Given the description of an element on the screen output the (x, y) to click on. 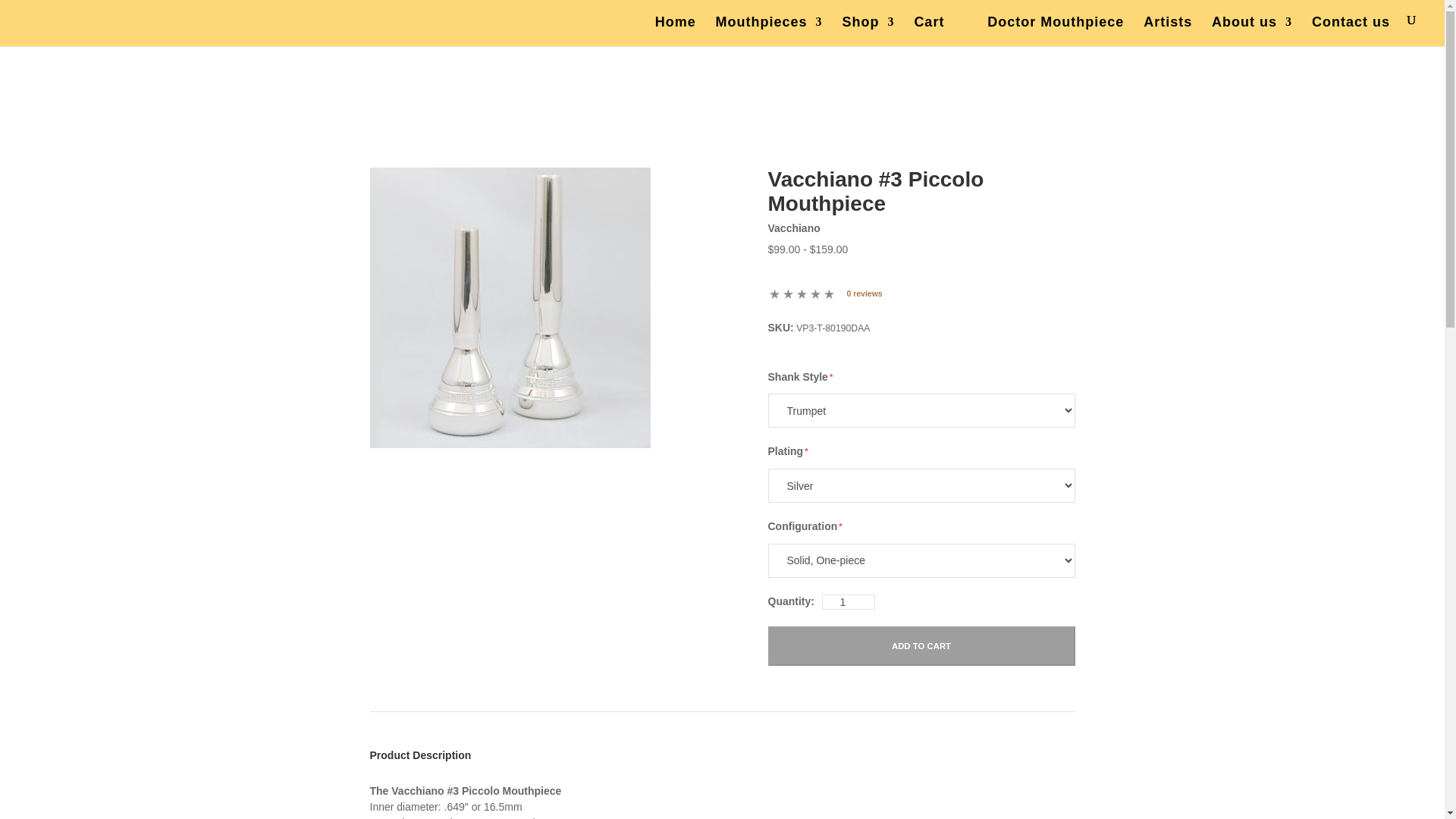
Mouthpieces (769, 28)
Home (675, 28)
1 (848, 601)
Shop (867, 28)
